Given the description of an element on the screen output the (x, y) to click on. 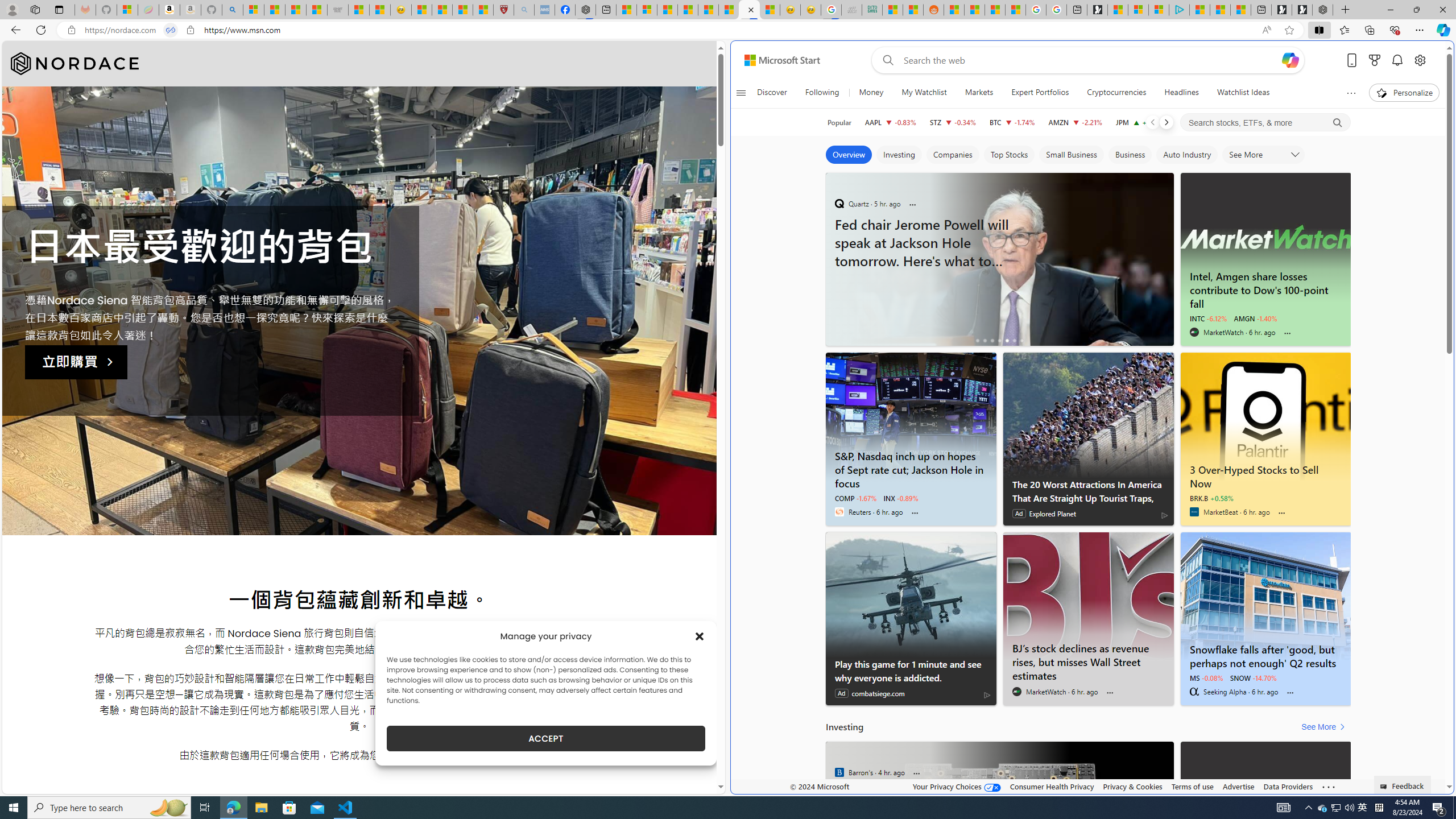
2024 Time Limited Rental Deals (999, 310)
Markets (979, 92)
Expert Portfolios (1039, 92)
Next (1165, 122)
AMZN AMAZON.COM, INC. decrease 176.13 -3.98 -2.21% (1075, 122)
Cryptocurrencies (1116, 92)
Expert Portfolios (1039, 92)
